Given the description of an element on the screen output the (x, y) to click on. 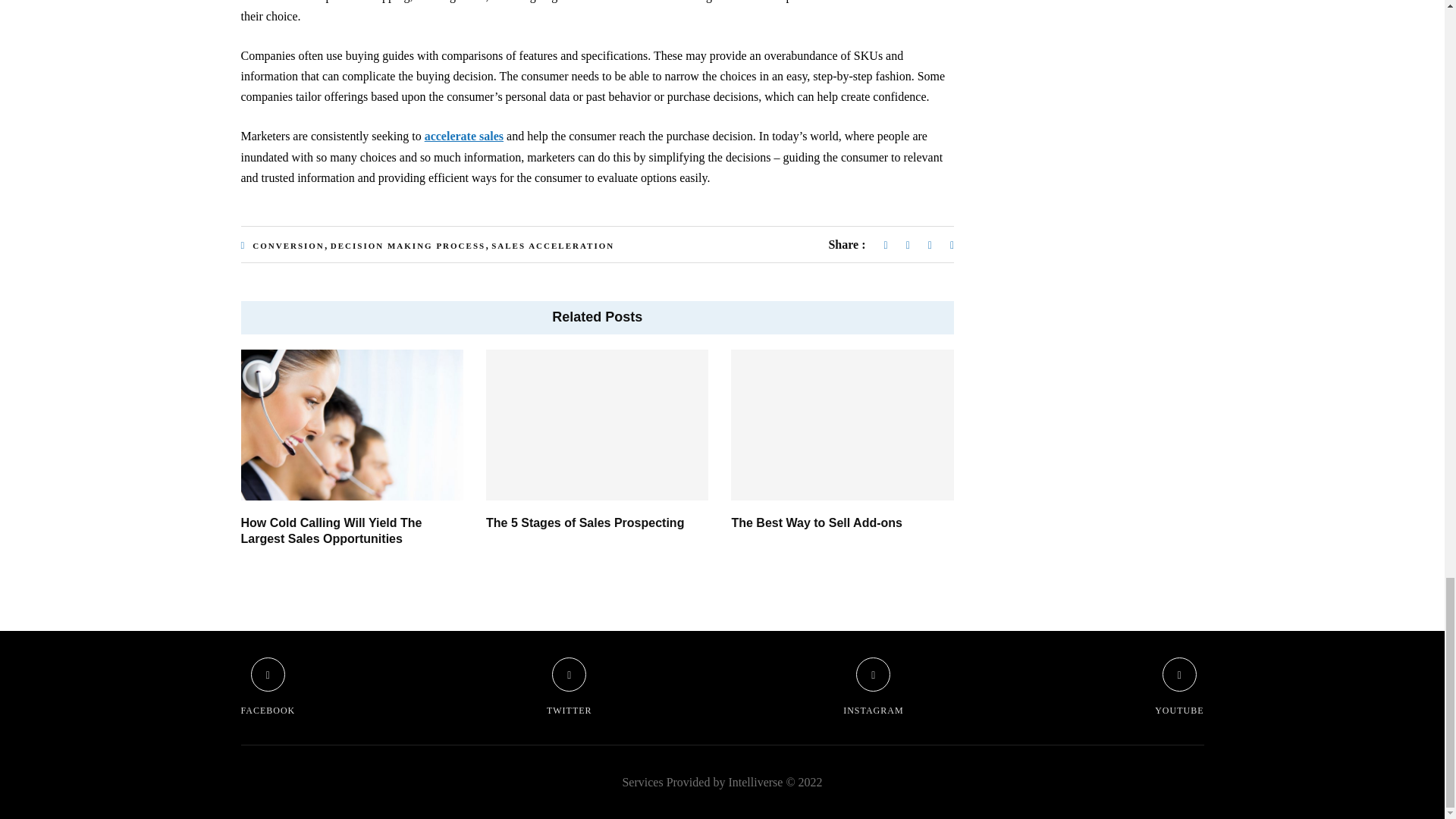
SALES ACCELERATION (553, 245)
How Cold Calling Will Yield The Largest Sales Opportunities (331, 530)
DECISION MAKING PROCESS (407, 245)
CONVERSION (287, 245)
accelerate sales (464, 135)
